Given the description of an element on the screen output the (x, y) to click on. 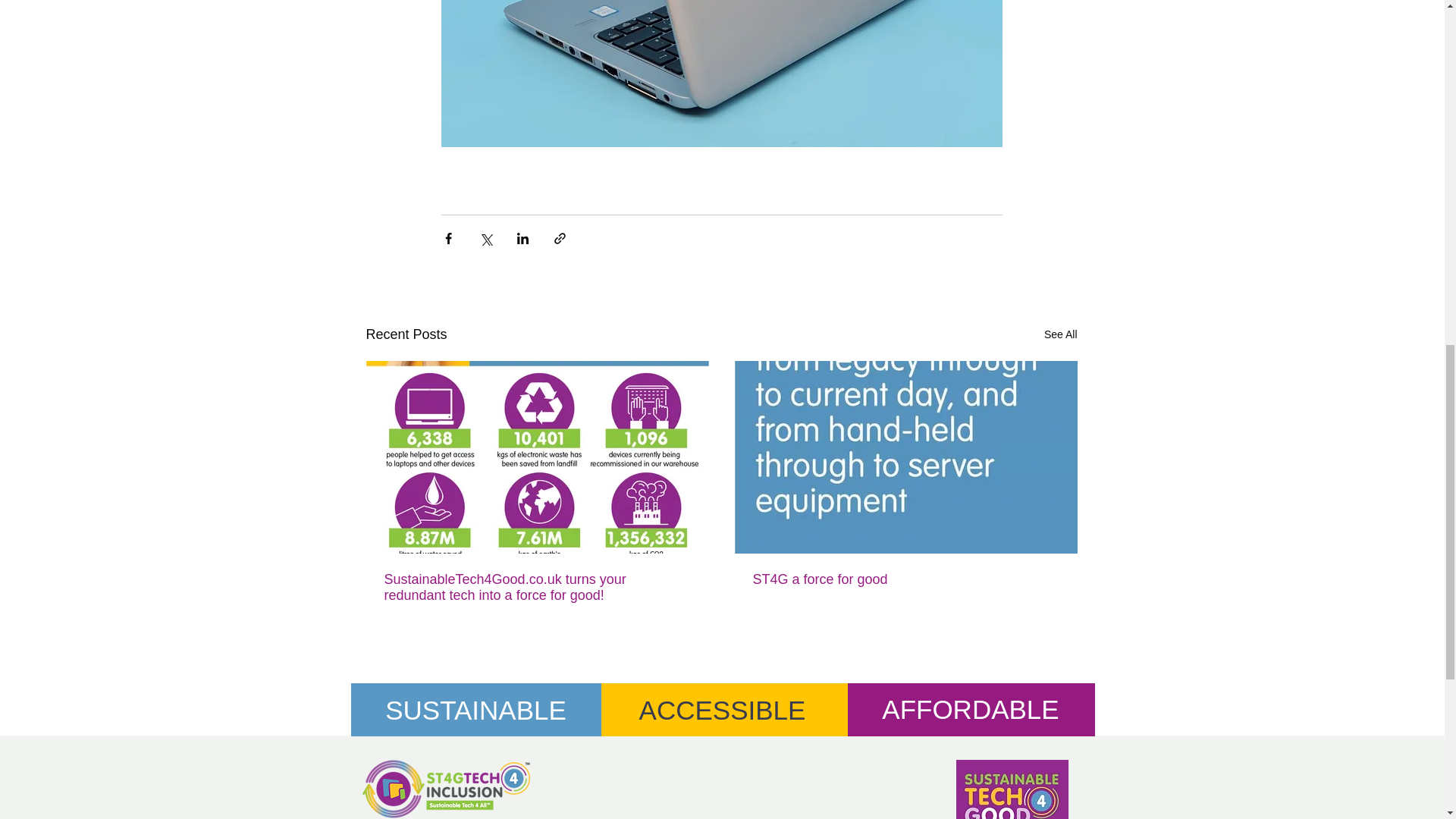
ST4G a force for good (905, 579)
See All (1060, 334)
Sustainable Tech 4 Good No Incorporating 4 Col Logo.jpg (1011, 789)
